Given the description of an element on the screen output the (x, y) to click on. 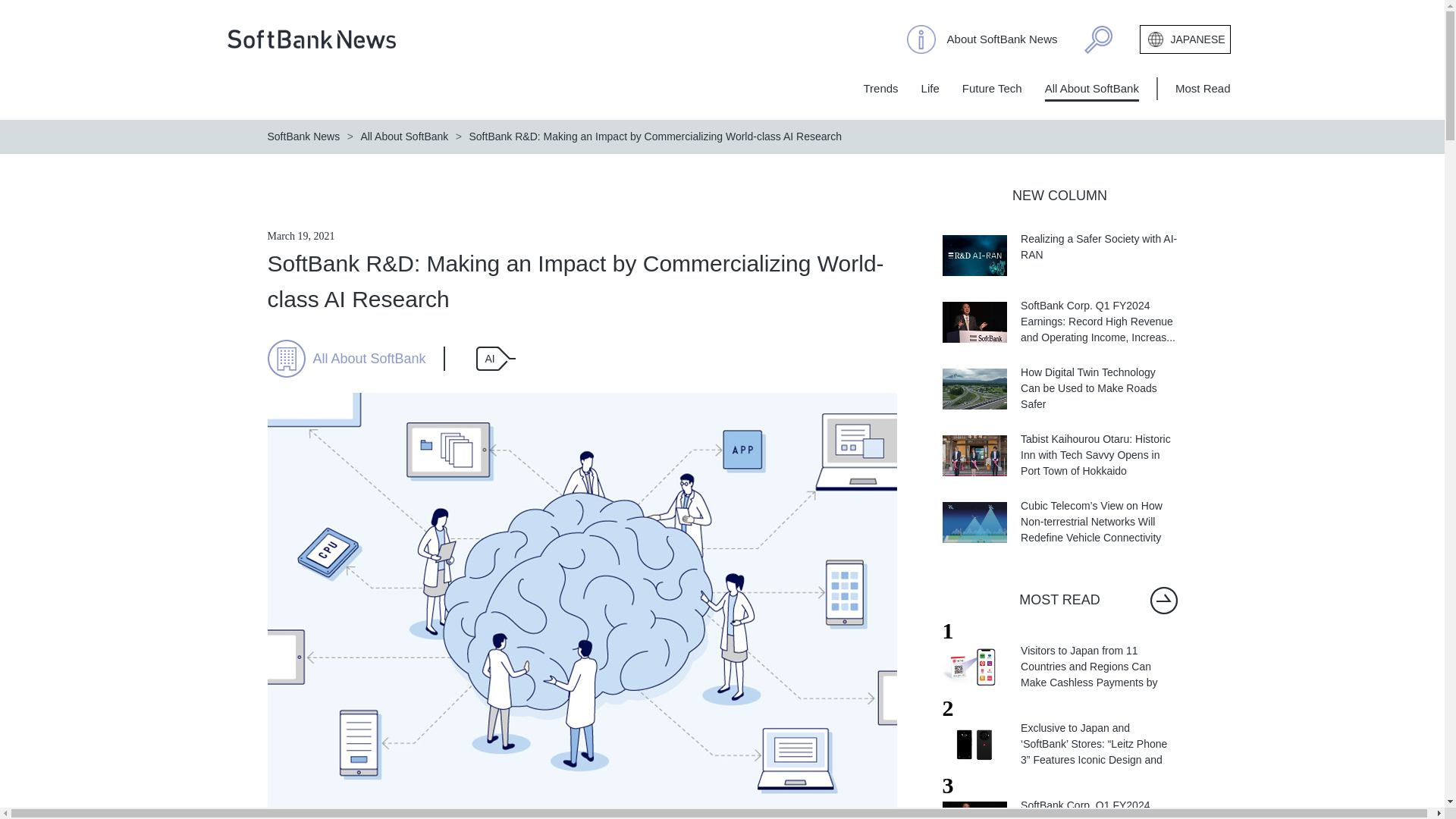
AI (495, 358)
All About SoftBank (368, 358)
Future Tech (992, 88)
Most Read (1202, 87)
SoftBank News (302, 136)
All About SoftBank (1091, 88)
